Given the description of an element on the screen output the (x, y) to click on. 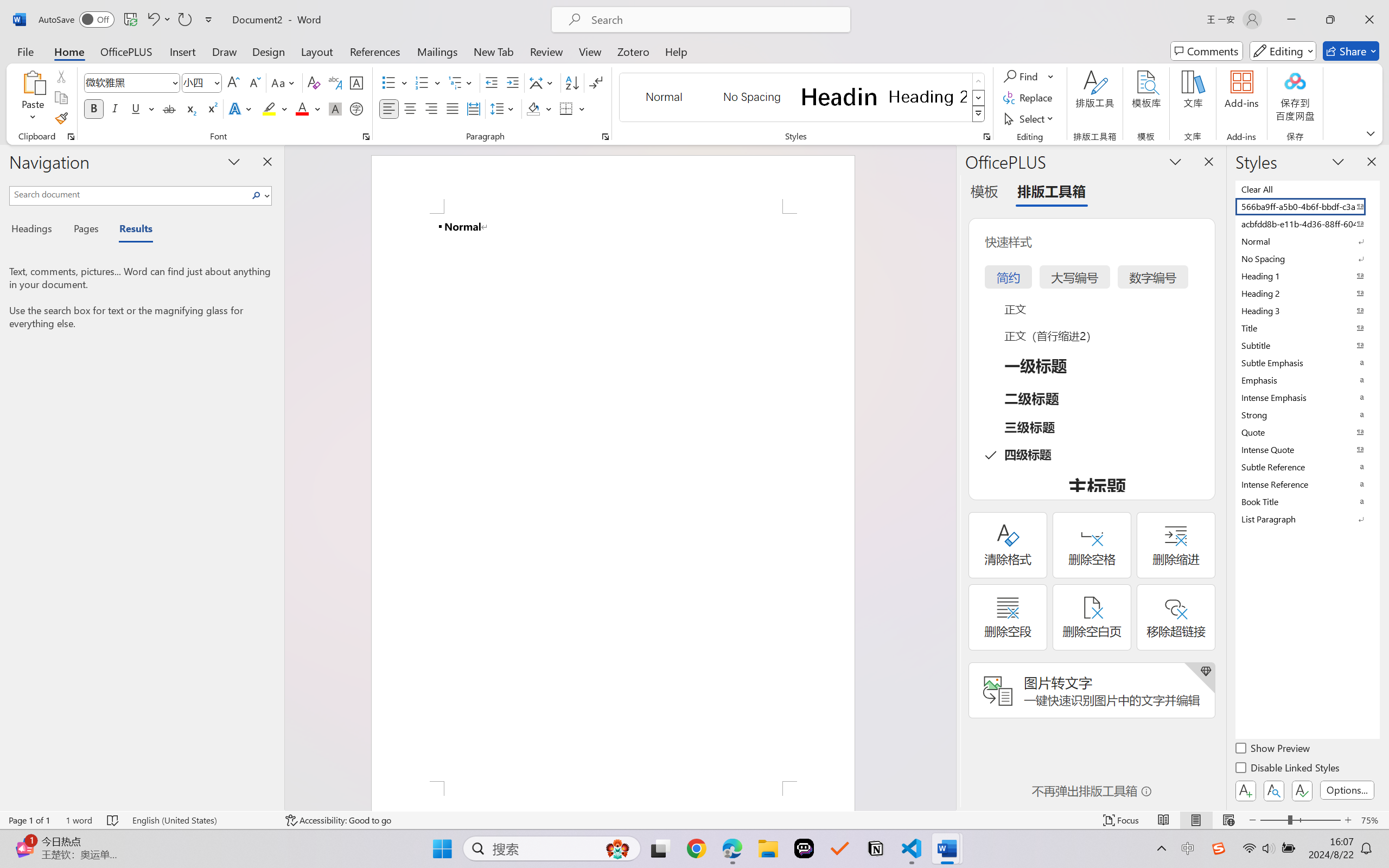
acbfdd8b-e11b-4d36-88ff-6049b138f862 (1306, 223)
